Given the description of an element on the screen output the (x, y) to click on. 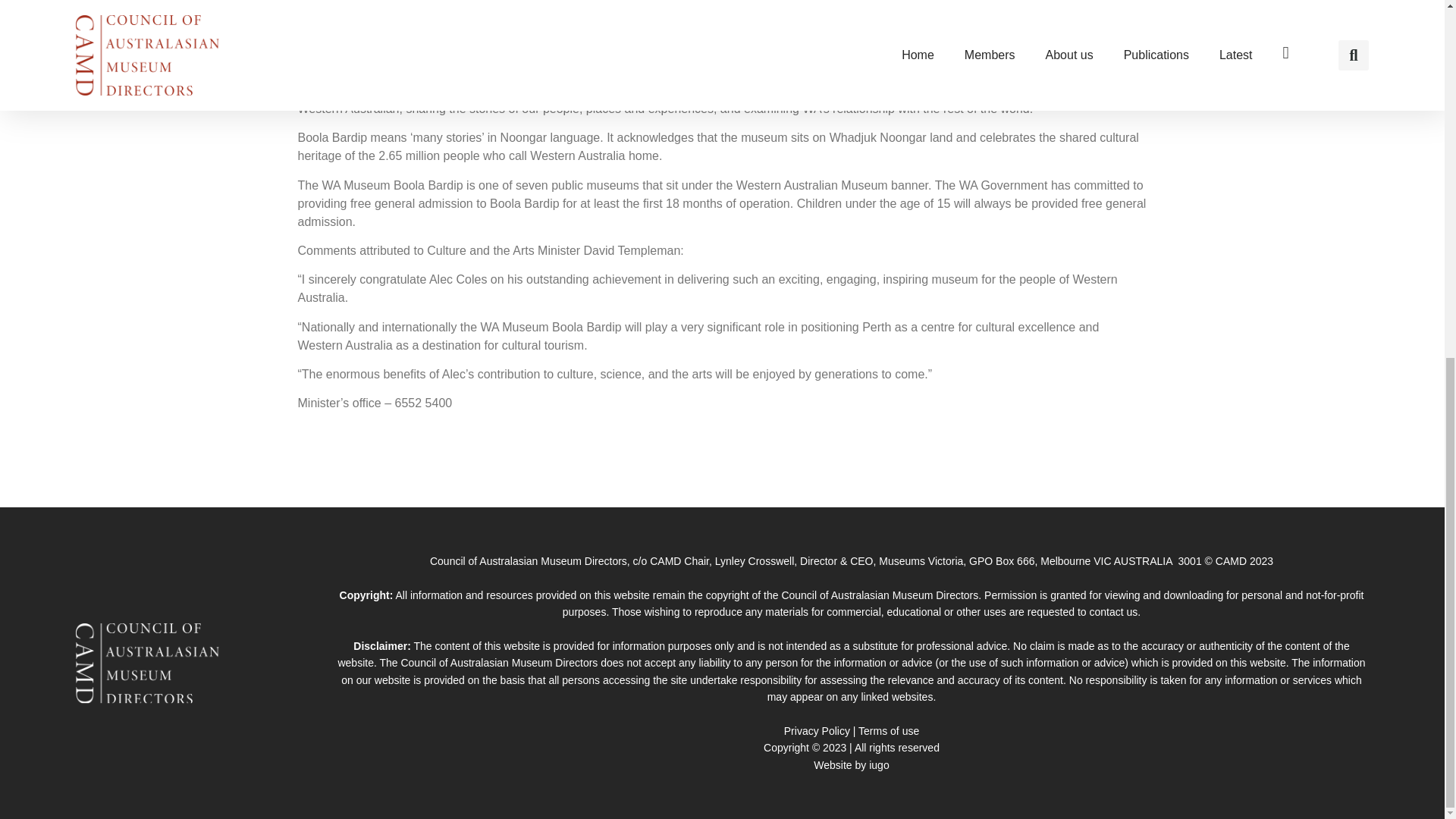
Privacy Policy (817, 730)
iugo (878, 765)
Terms of use (888, 730)
